Given the description of an element on the screen output the (x, y) to click on. 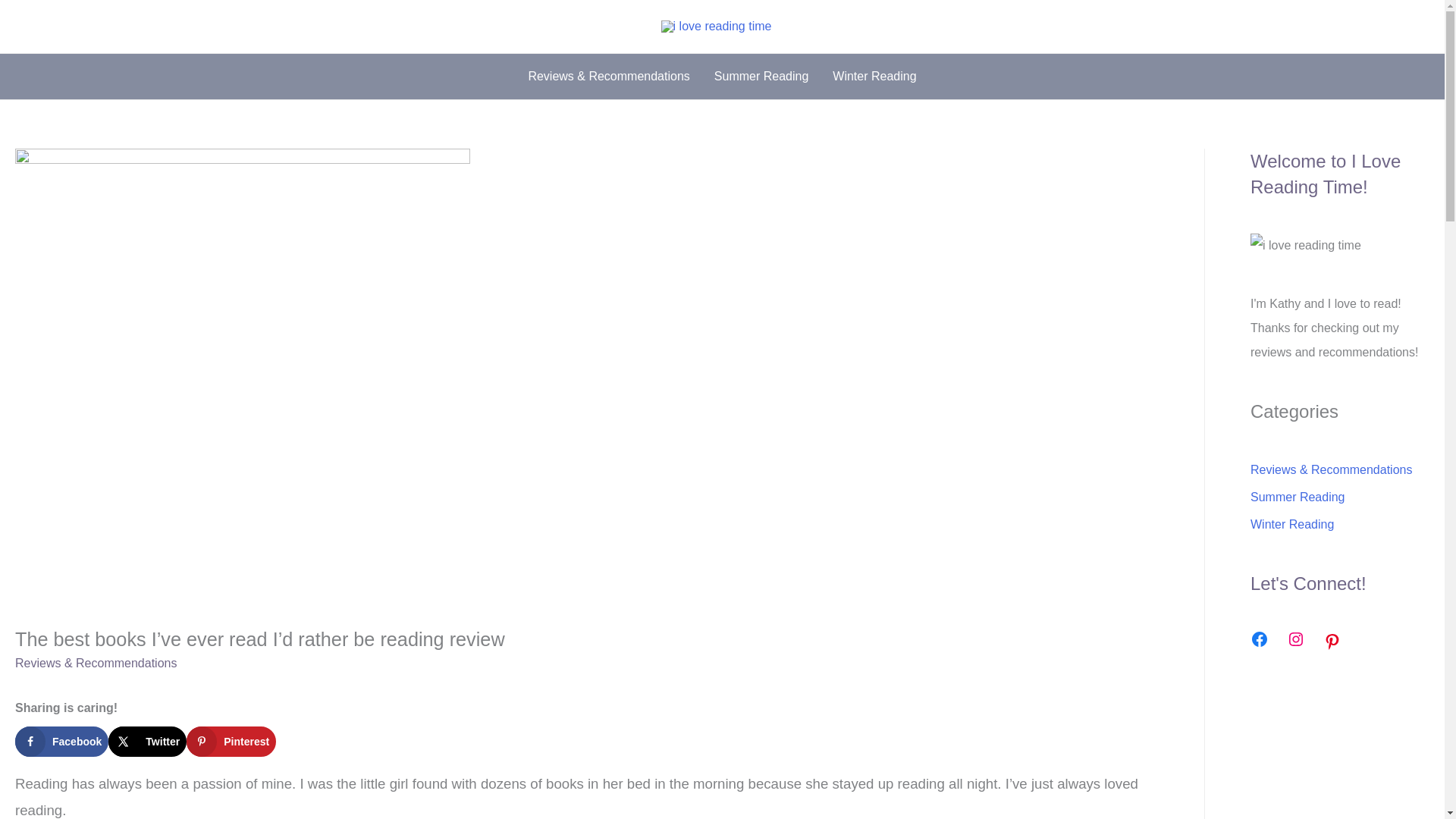
Facebook (60, 741)
Save to Pinterest (231, 741)
Summer Reading (761, 76)
Winter Reading (874, 76)
Share on Facebook (60, 741)
Twitter (146, 741)
Share on X (146, 741)
Pinterest (231, 741)
